Given the description of an element on the screen output the (x, y) to click on. 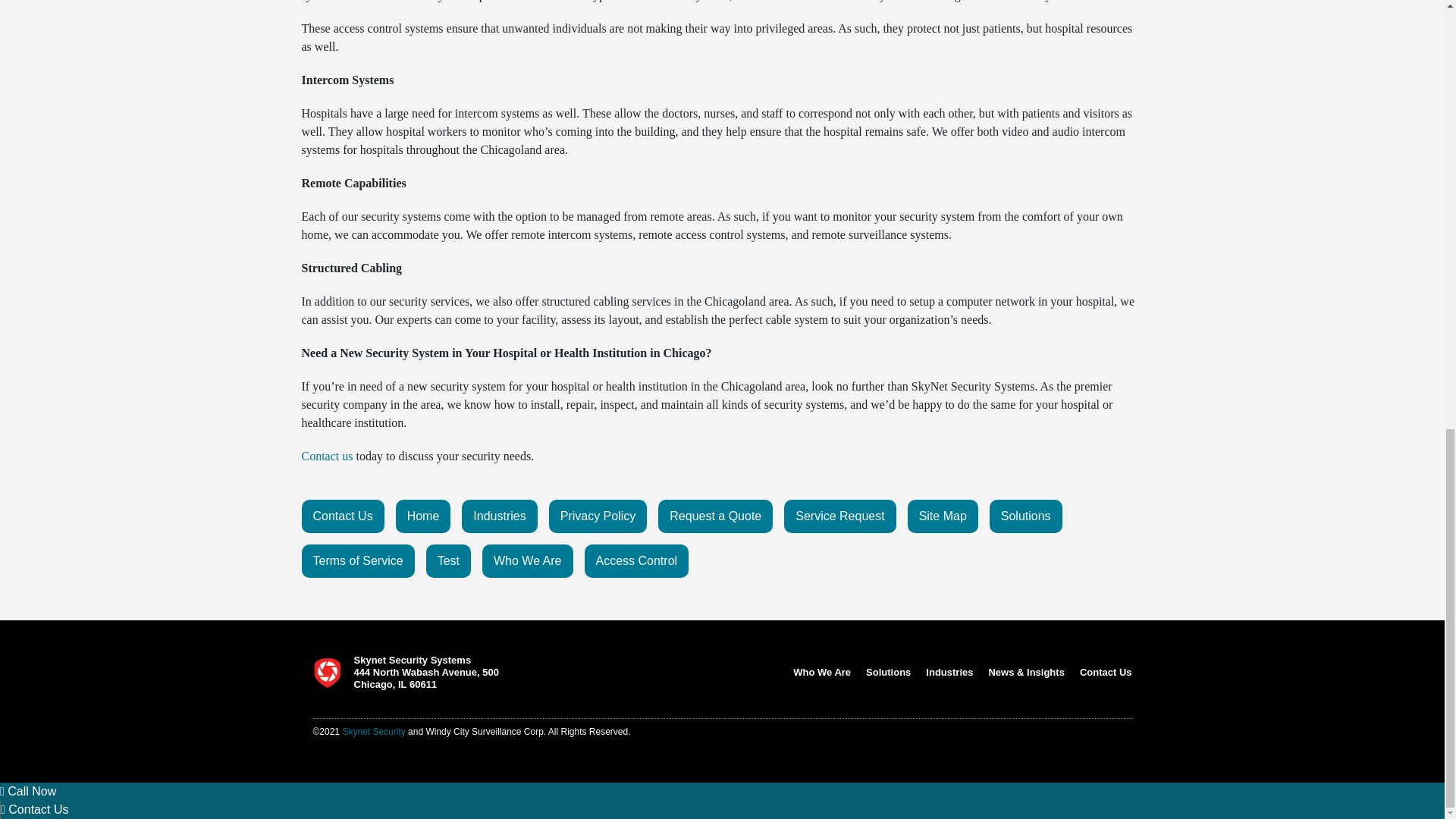
Contact Us (342, 516)
Home (423, 516)
Industries (499, 516)
Contact us (327, 455)
